Given the description of an element on the screen output the (x, y) to click on. 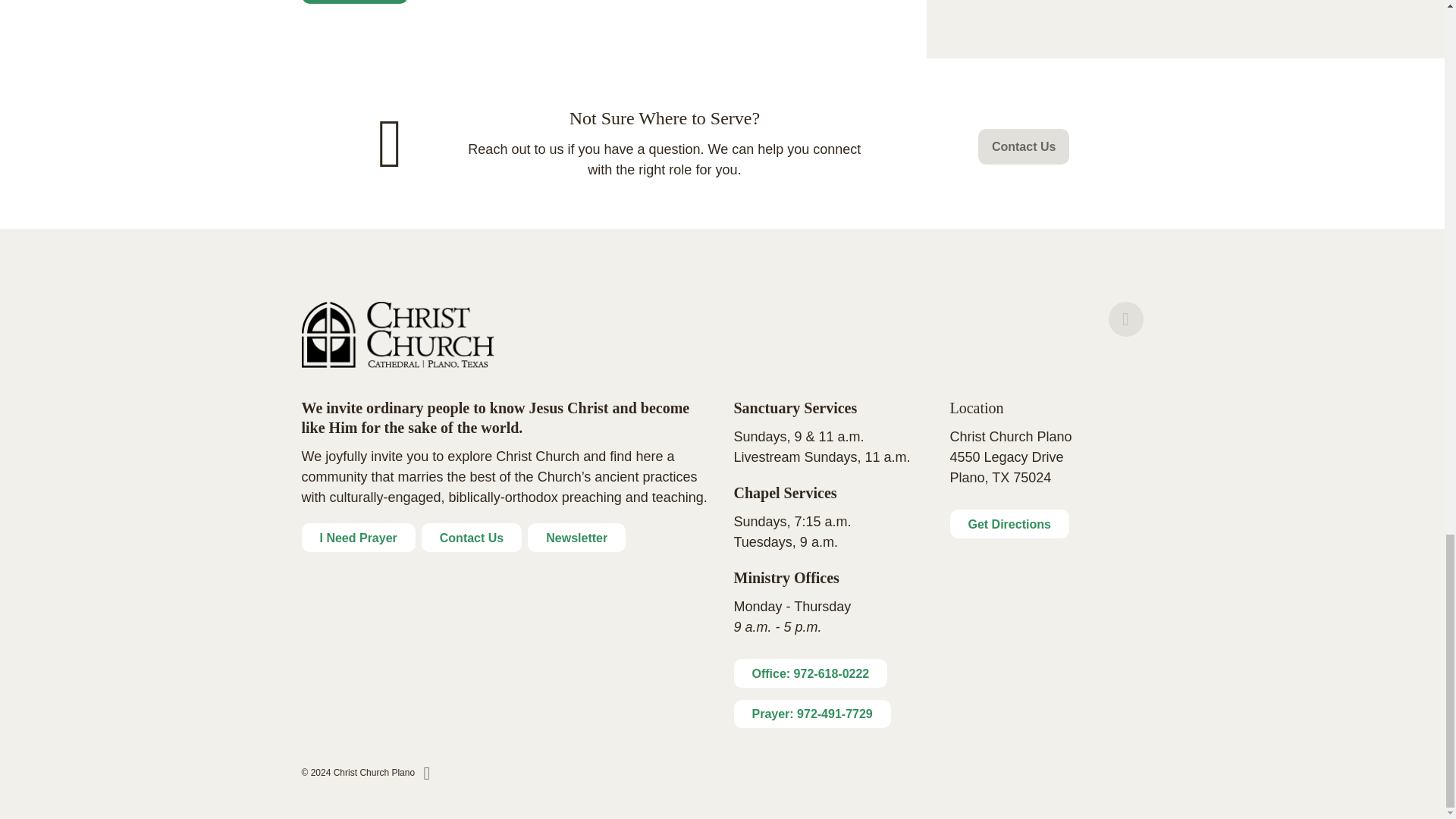
Christ Church Plano (398, 334)
Back Up (1125, 319)
Contact Us (471, 537)
I Need Prayer (357, 537)
Newsletter (576, 537)
